Given the description of an element on the screen output the (x, y) to click on. 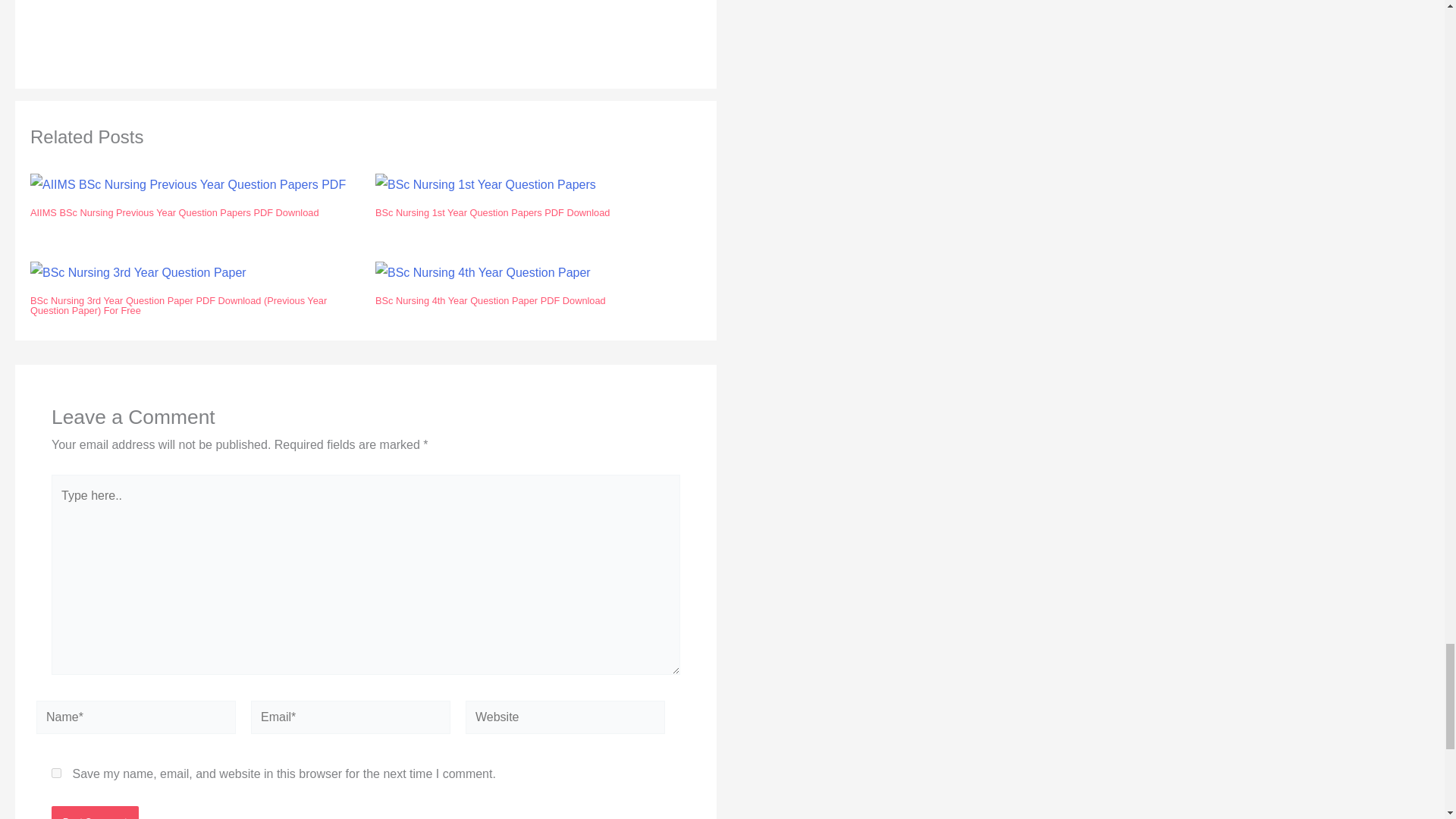
yes (55, 773)
AIIMS BSc Nursing Previous Year Question Papers PDF Download (188, 184)
BSc Nursing 1st Year Question Papers PDF Download (485, 184)
BSc Nursing 4th Year Question Paper PDF Download (483, 272)
Post Comment (94, 812)
